Given the description of an element on the screen output the (x, y) to click on. 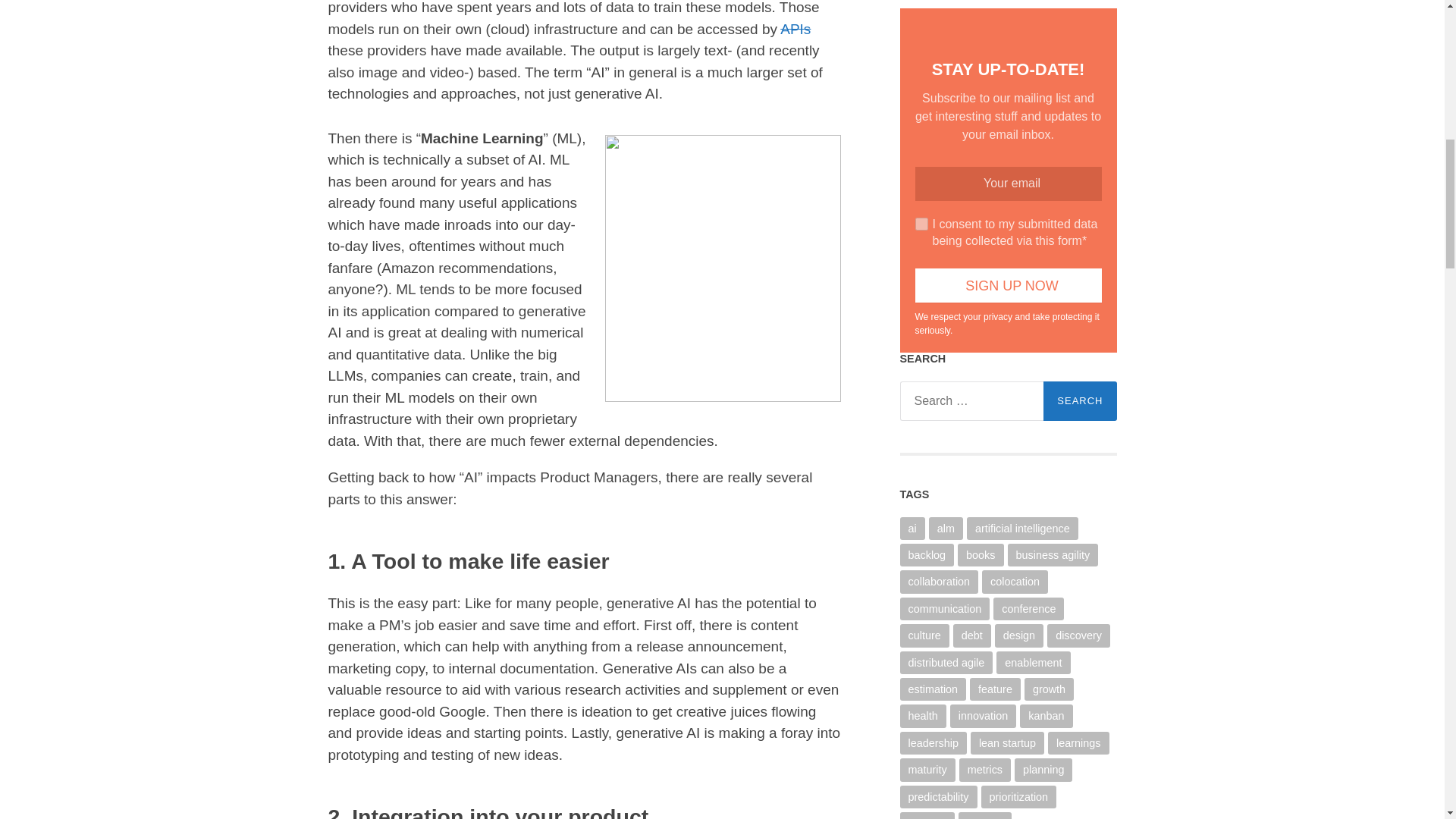
Search (1079, 400)
Search (1079, 400)
Sign Up Now (1007, 285)
Sign Up Now (1007, 285)
on (920, 223)
Your email (1007, 183)
Search (1079, 400)
backlog (926, 554)
artificial intelligence (1022, 527)
APIs (795, 28)
